Given the description of an element on the screen output the (x, y) to click on. 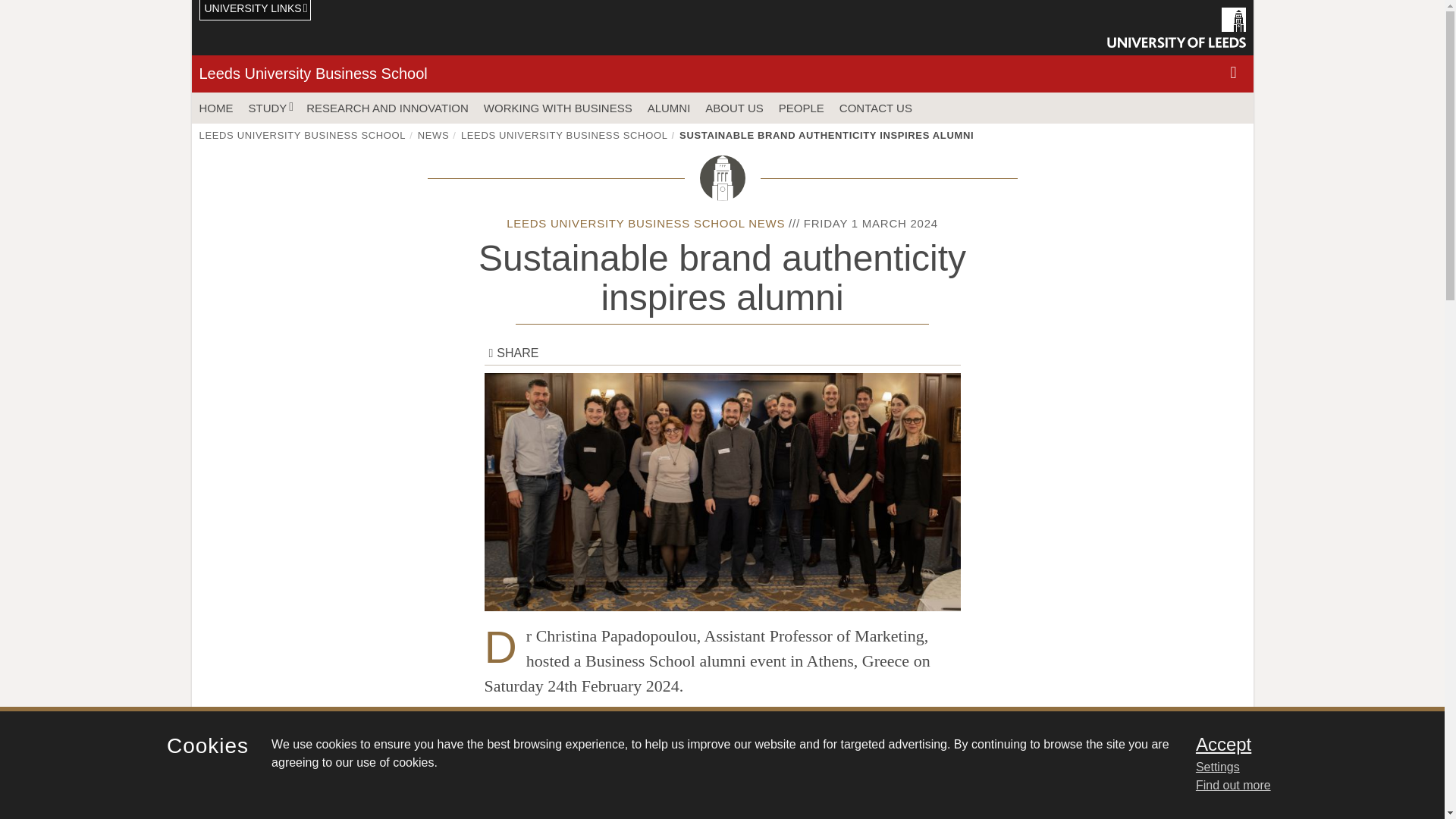
UNIVERSITY LINKS (254, 10)
Find out more (1233, 784)
Settings (1300, 767)
Accept (1300, 744)
University of Leeds homepage (1176, 27)
